Given the description of an element on the screen output the (x, y) to click on. 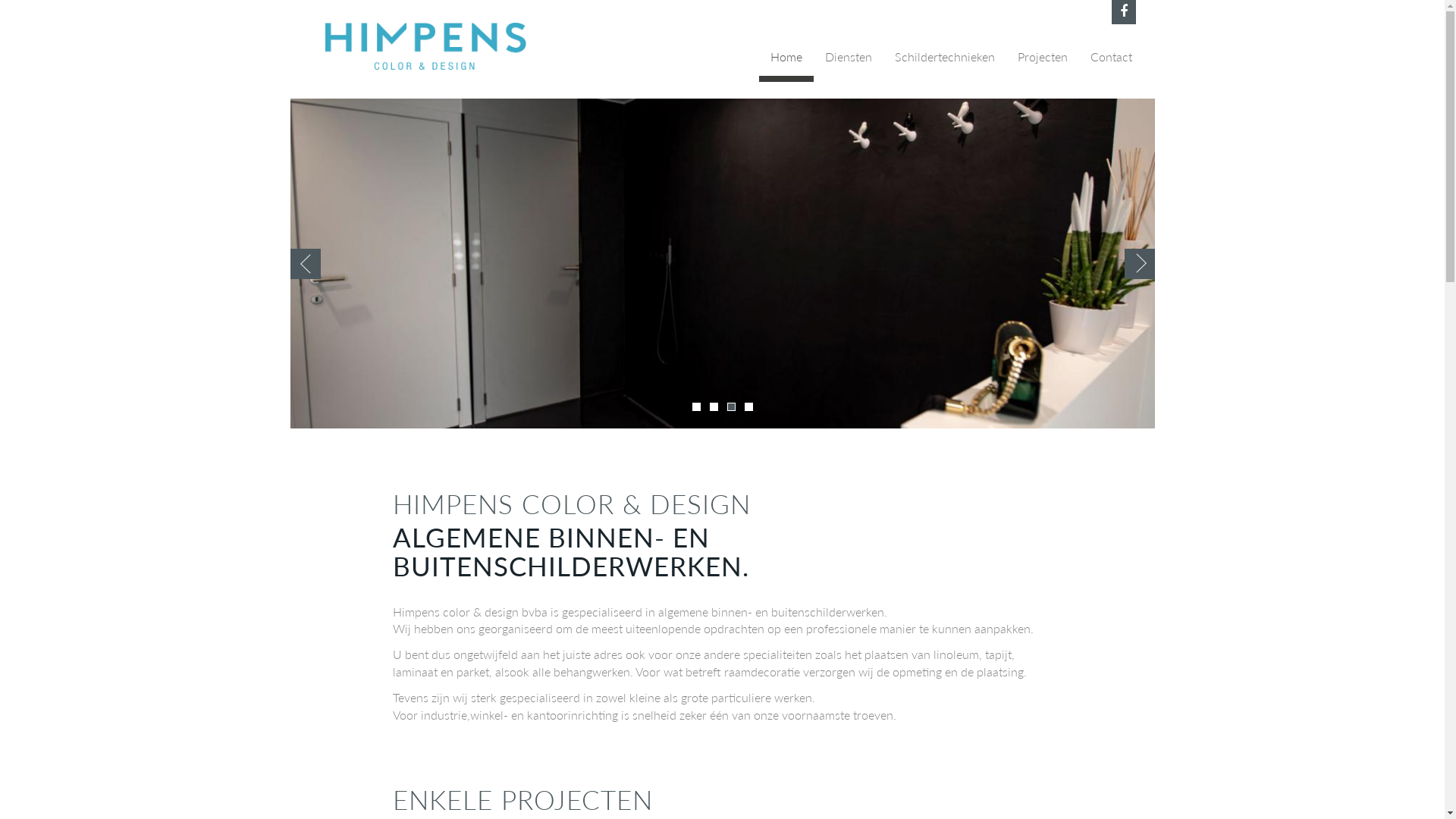
Home Element type: hover (431, 45)
Contact Element type: text (1110, 59)
Overslaan en naar de inhoud gaan Element type: text (0, 0)
Previous Element type: text (304, 263)
Volgende Element type: text (1138, 263)
Projecten Element type: text (1041, 59)
Home Element type: text (785, 59)
Facebook Himpens Element type: text (1123, 12)
Schildertechnieken Element type: text (943, 59)
2 Element type: text (713, 406)
Diensten Element type: text (847, 59)
1 Element type: text (695, 406)
3 Element type: text (730, 406)
4 Element type: text (748, 406)
